Given the description of an element on the screen output the (x, y) to click on. 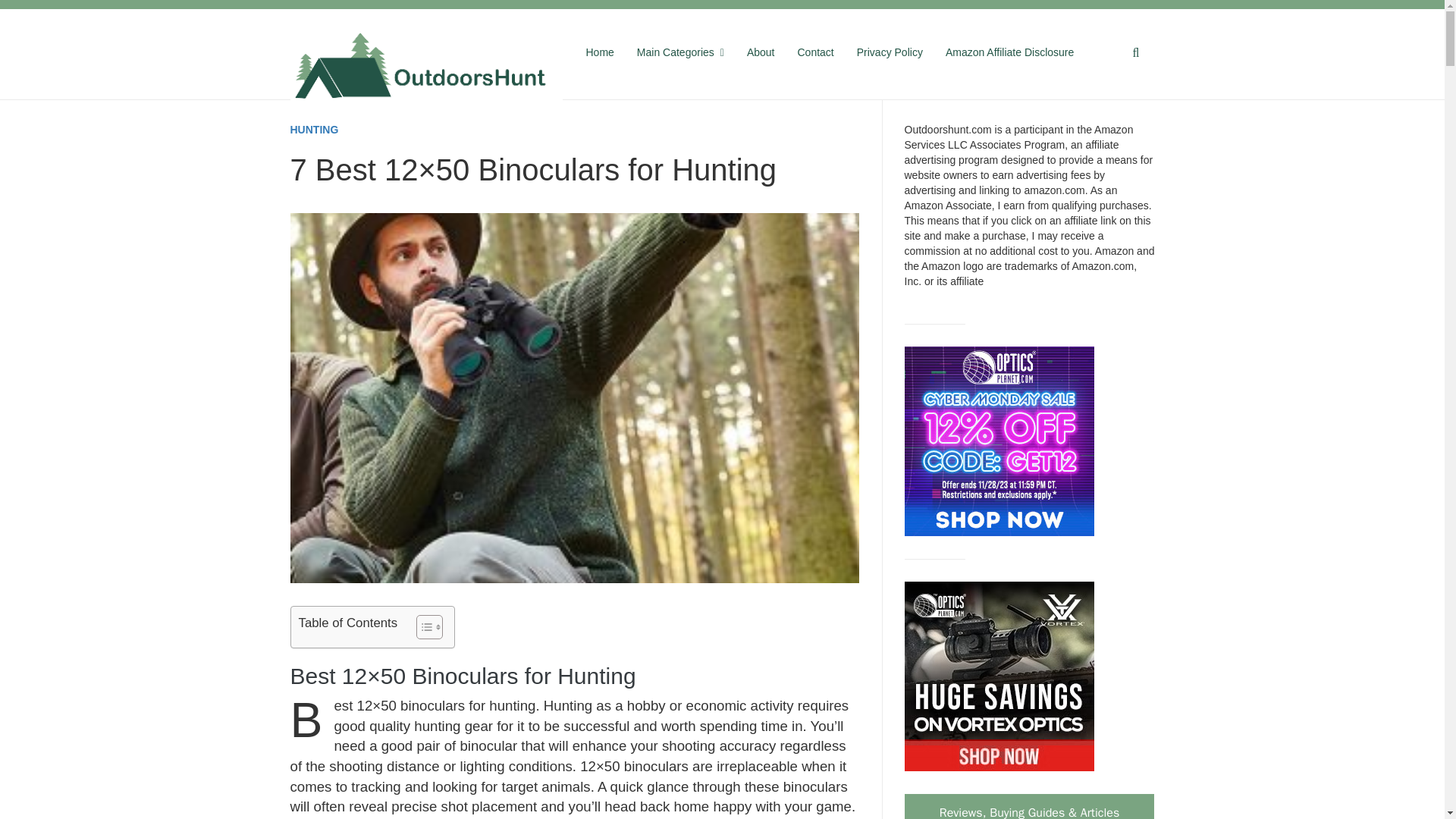
Main Categories (680, 52)
HUNTING (313, 129)
Privacy Policy (890, 52)
Amazon Affiliate Disclosure (1009, 52)
Main Categories (680, 52)
